Given the description of an element on the screen output the (x, y) to click on. 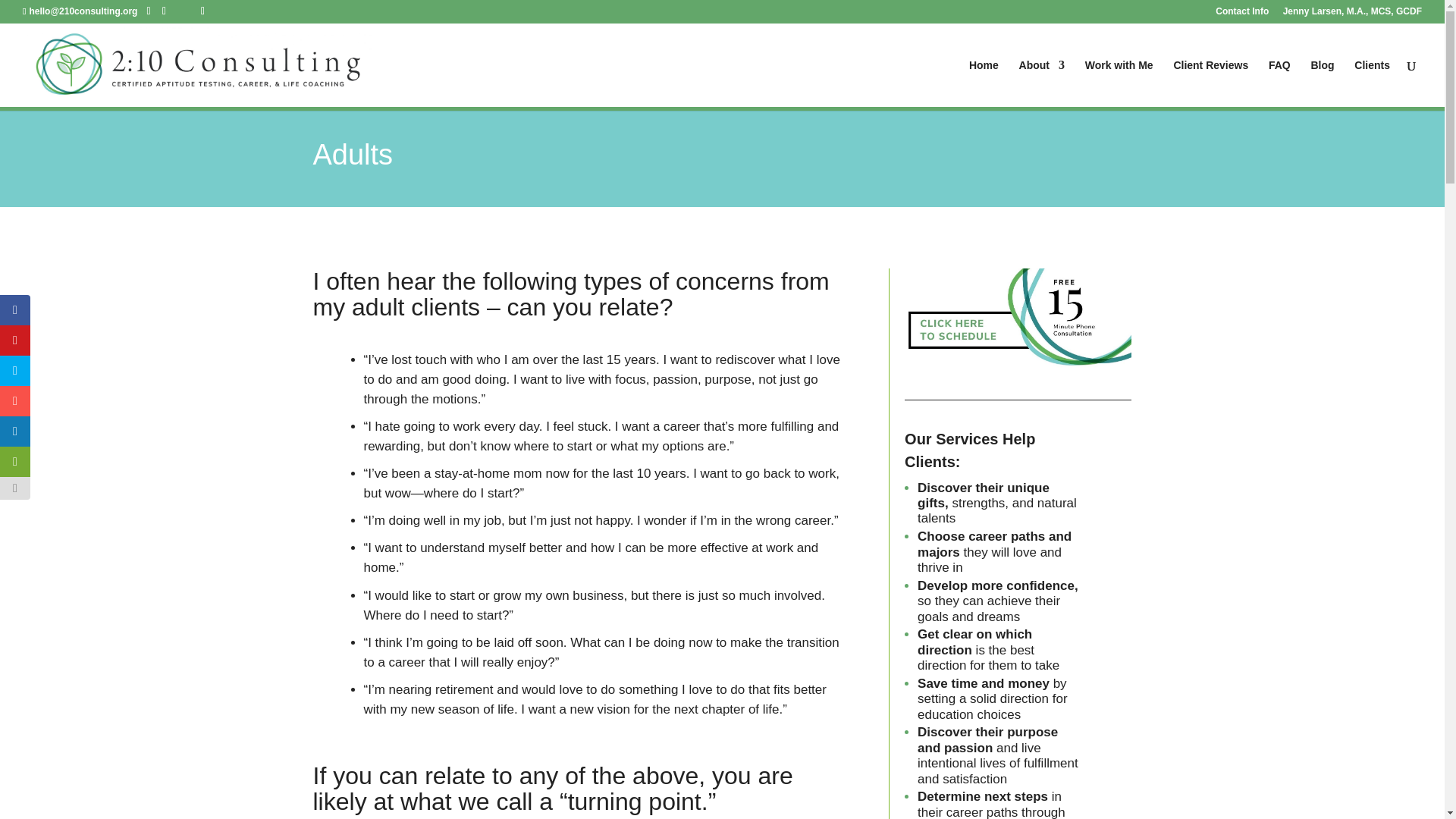
About (1041, 83)
Work with Me (1118, 83)
Jenny Larsen, M.A., MCS, GCDF (1352, 14)
Client Reviews (1210, 83)
Contact Info (1241, 14)
